Given the description of an element on the screen output the (x, y) to click on. 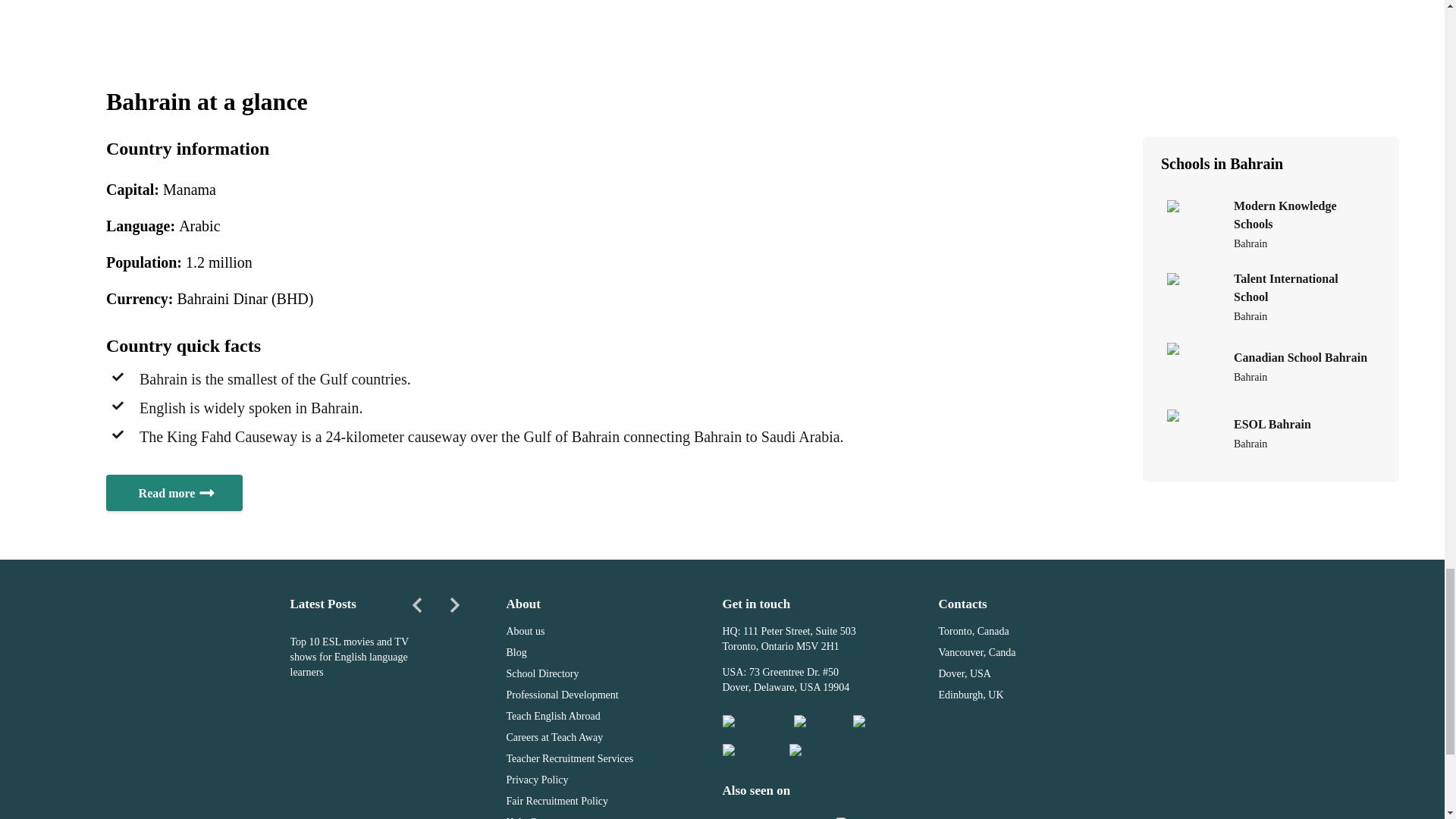
Checkmark Small Icon (117, 377)
Checkmark Small Icon (117, 405)
Checkmark Small Icon (117, 434)
